Given the description of an element on the screen output the (x, y) to click on. 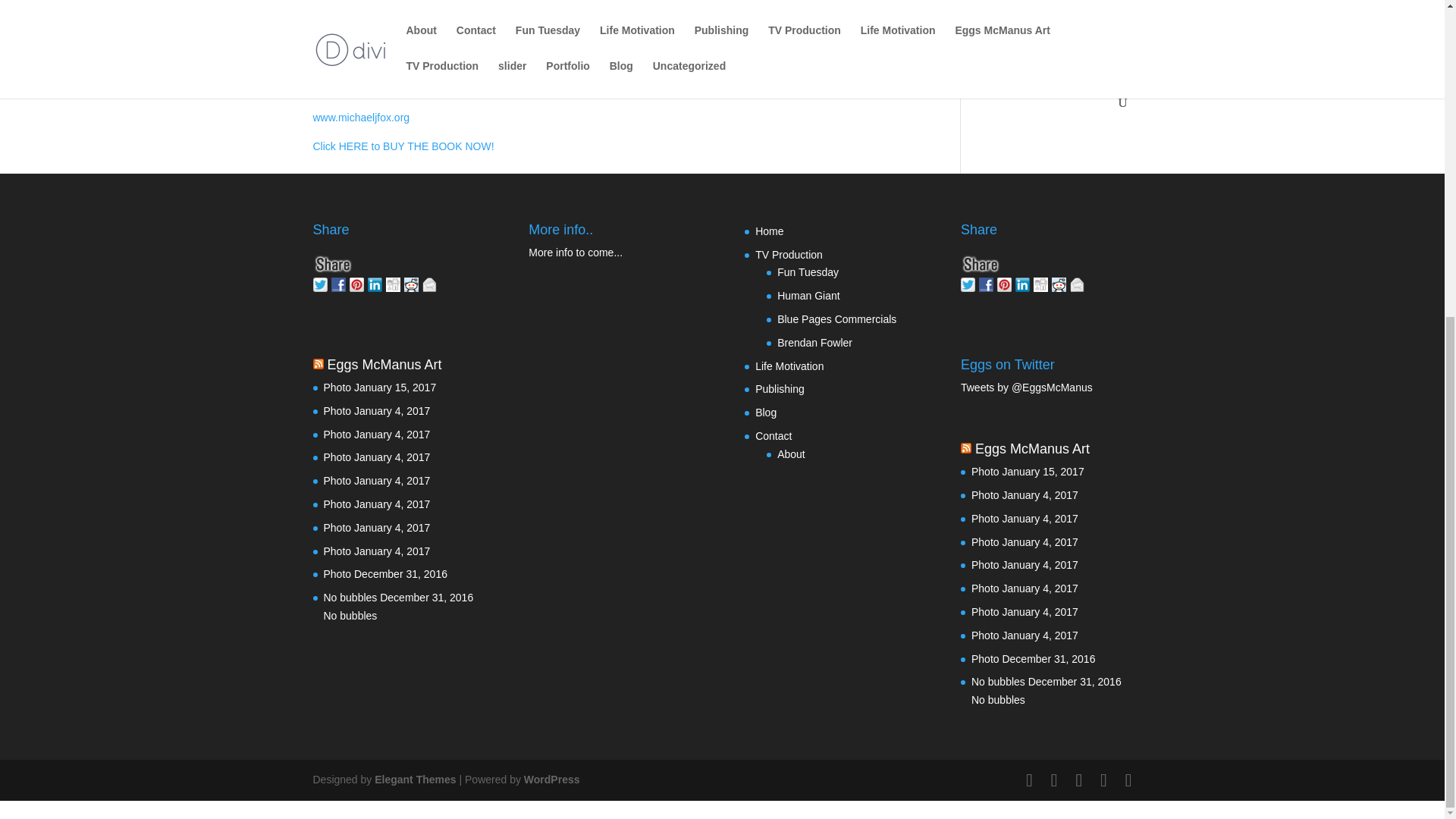
Linkedin (375, 282)
Facebook (339, 282)
Twitter (321, 282)
Pinterest (357, 282)
www.michaeljfox.org (361, 117)
Digg (394, 282)
Click HERE to BUY THE BOOK NOW! (403, 146)
Email (430, 282)
Reddit (412, 282)
